Given the description of an element on the screen output the (x, y) to click on. 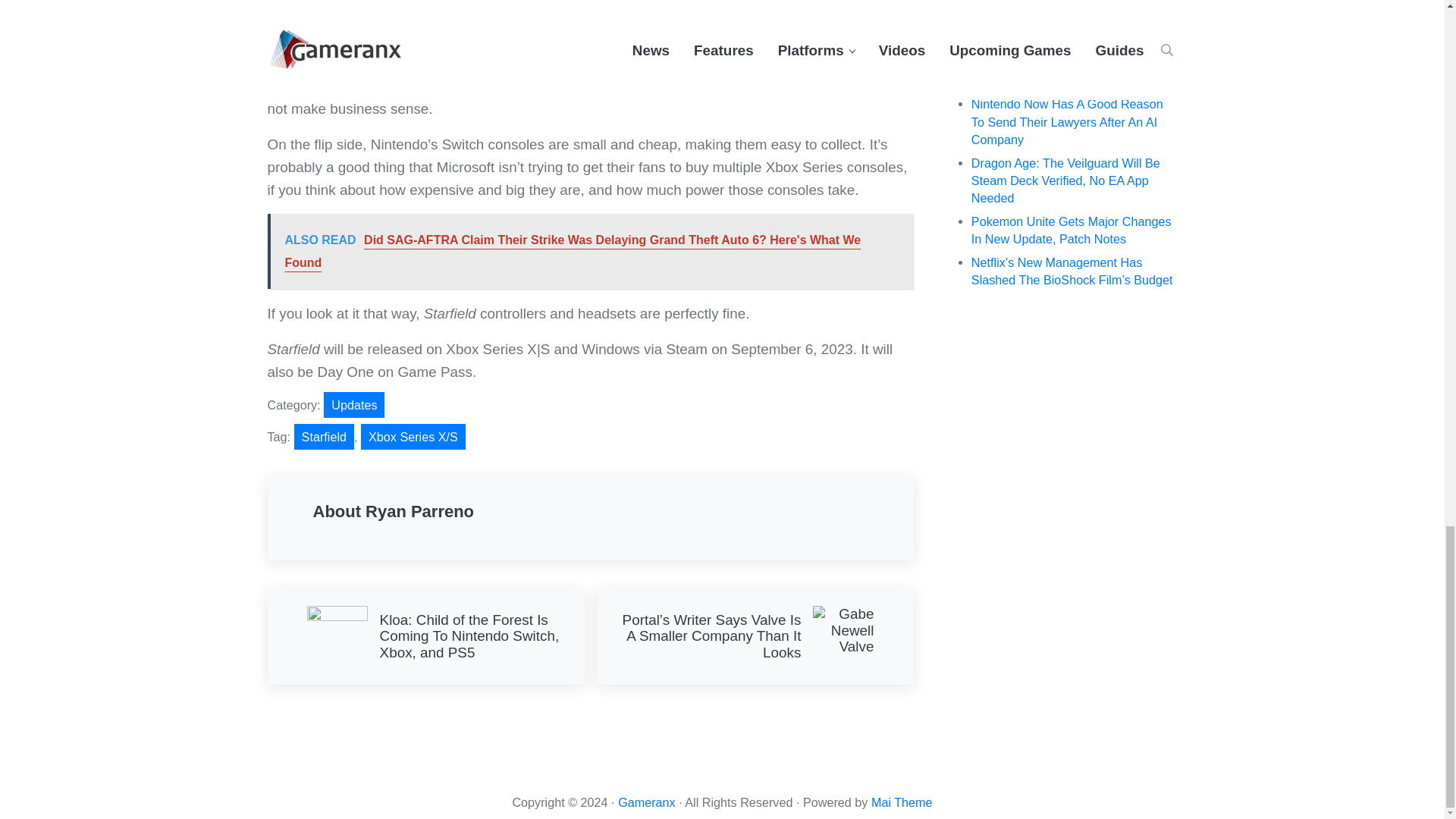
Updates (353, 404)
Starfield (323, 436)
Gameranx (646, 802)
Mai Theme (901, 802)
